Given the description of an element on the screen output the (x, y) to click on. 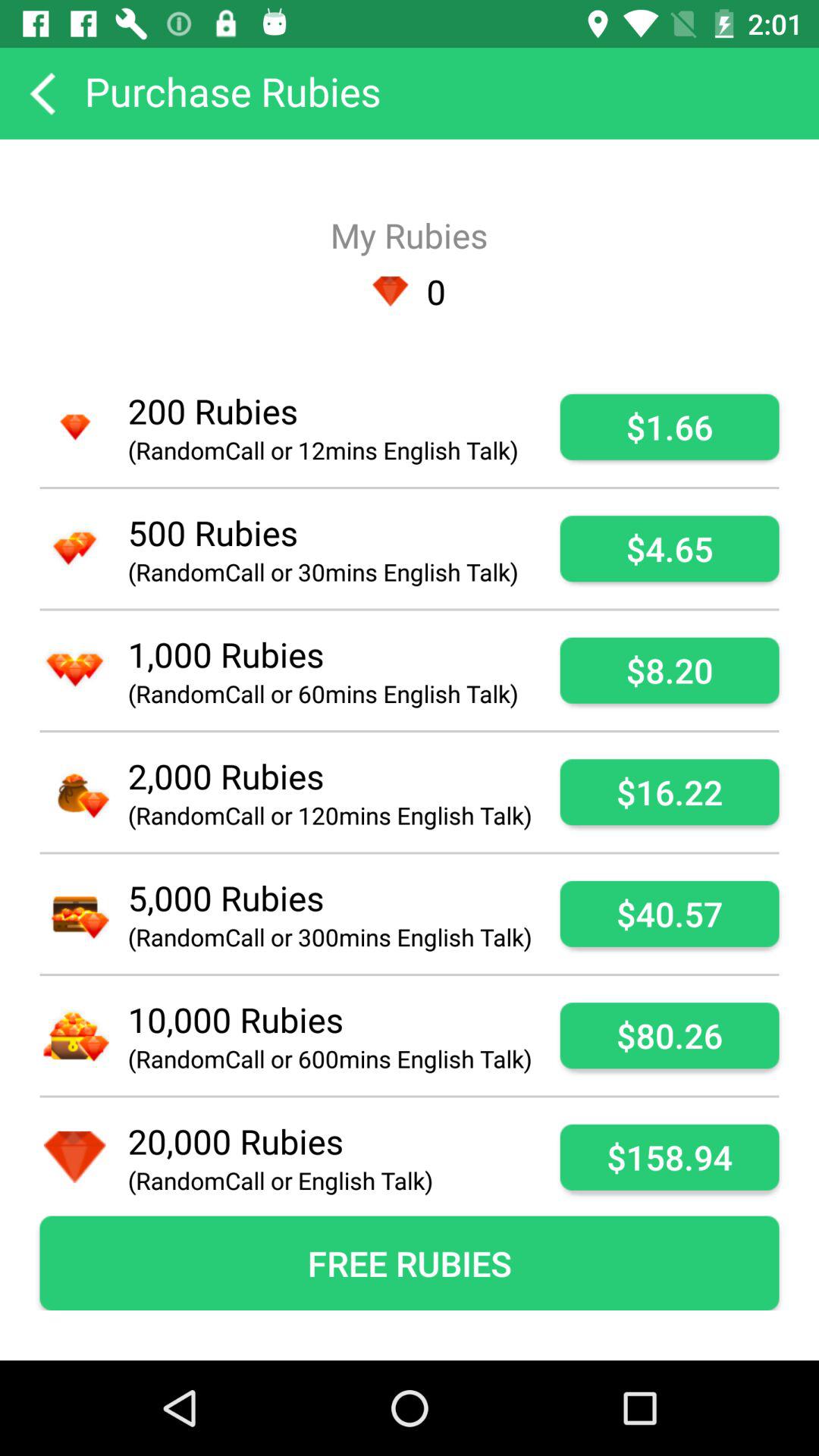
open icon next to the randomcall or 600mins (669, 1035)
